Given the description of an element on the screen output the (x, y) to click on. 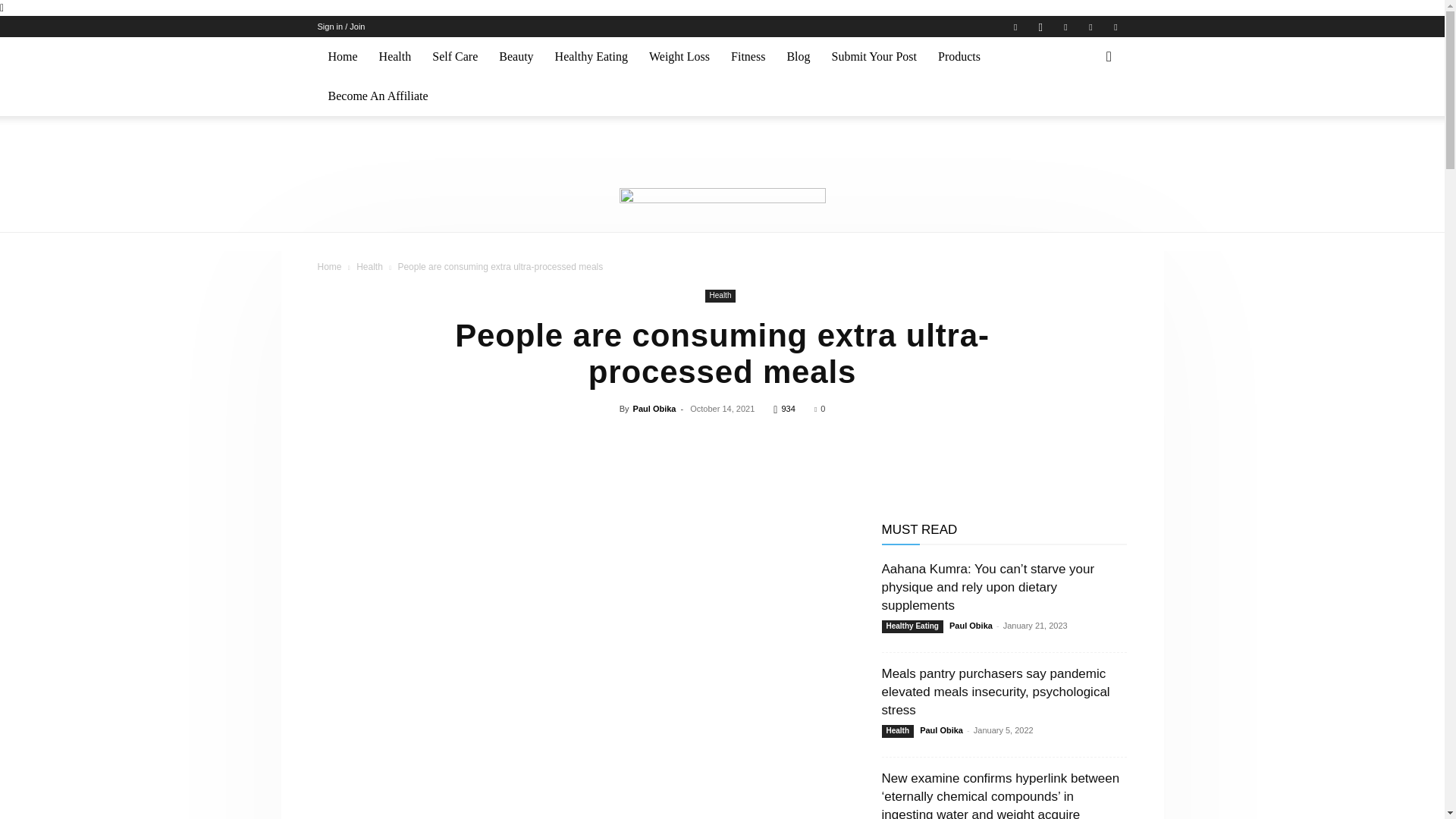
Youtube (1114, 25)
Fitness (748, 56)
Health (395, 56)
View all posts in Health (369, 266)
Twitter (1065, 25)
Weight Loss (679, 56)
Beauty (515, 56)
Vimeo (1090, 25)
Instagram (1040, 25)
Healthy Eating (591, 56)
Self Care (454, 56)
Home (342, 56)
Facebook (1015, 25)
